Given the description of an element on the screen output the (x, y) to click on. 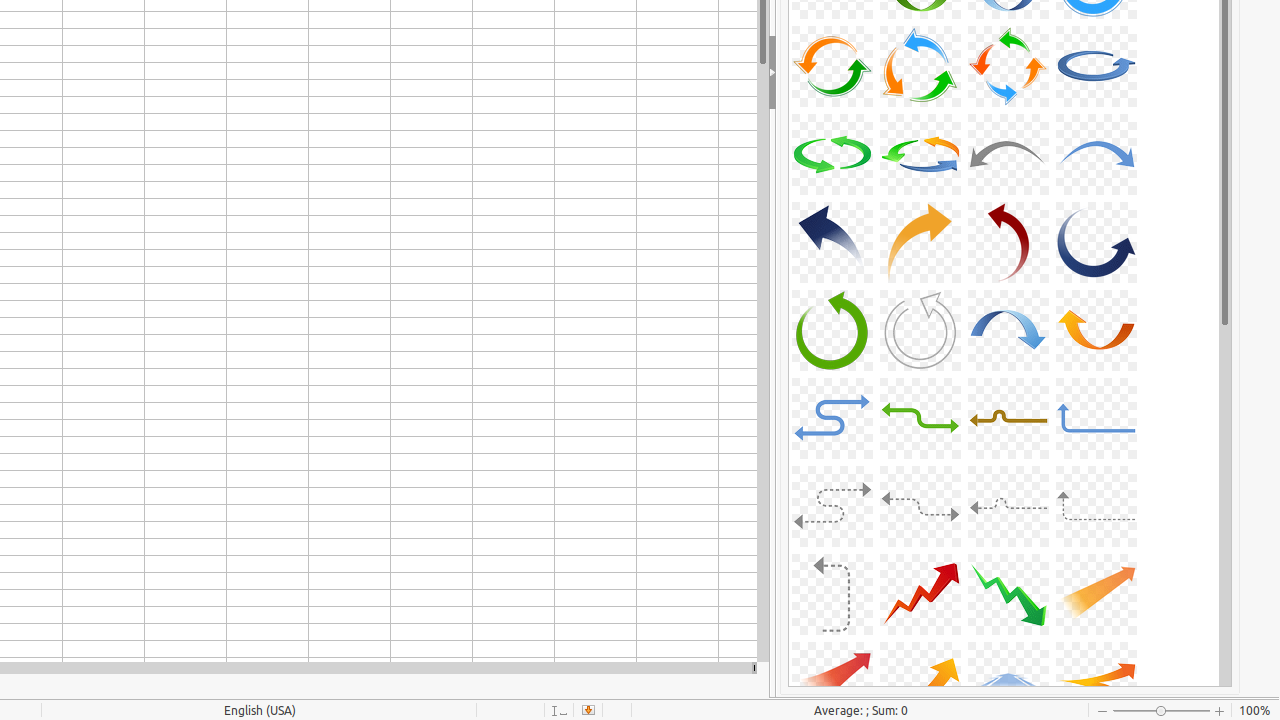
A23-CurvedArrow-Gray-Left Element type: list-item (1008, 154)
A37-CurvedArrow-Gray-TwoDirections Element type: list-item (832, 506)
A20-CircleArrow-LightBlue Element type: list-item (1096, 65)
A28-CurvedArrow-DarkBlue Element type: list-item (1096, 242)
A25-CurvedArrow-DarkBlue Element type: list-item (832, 242)
